Given the description of an element on the screen output the (x, y) to click on. 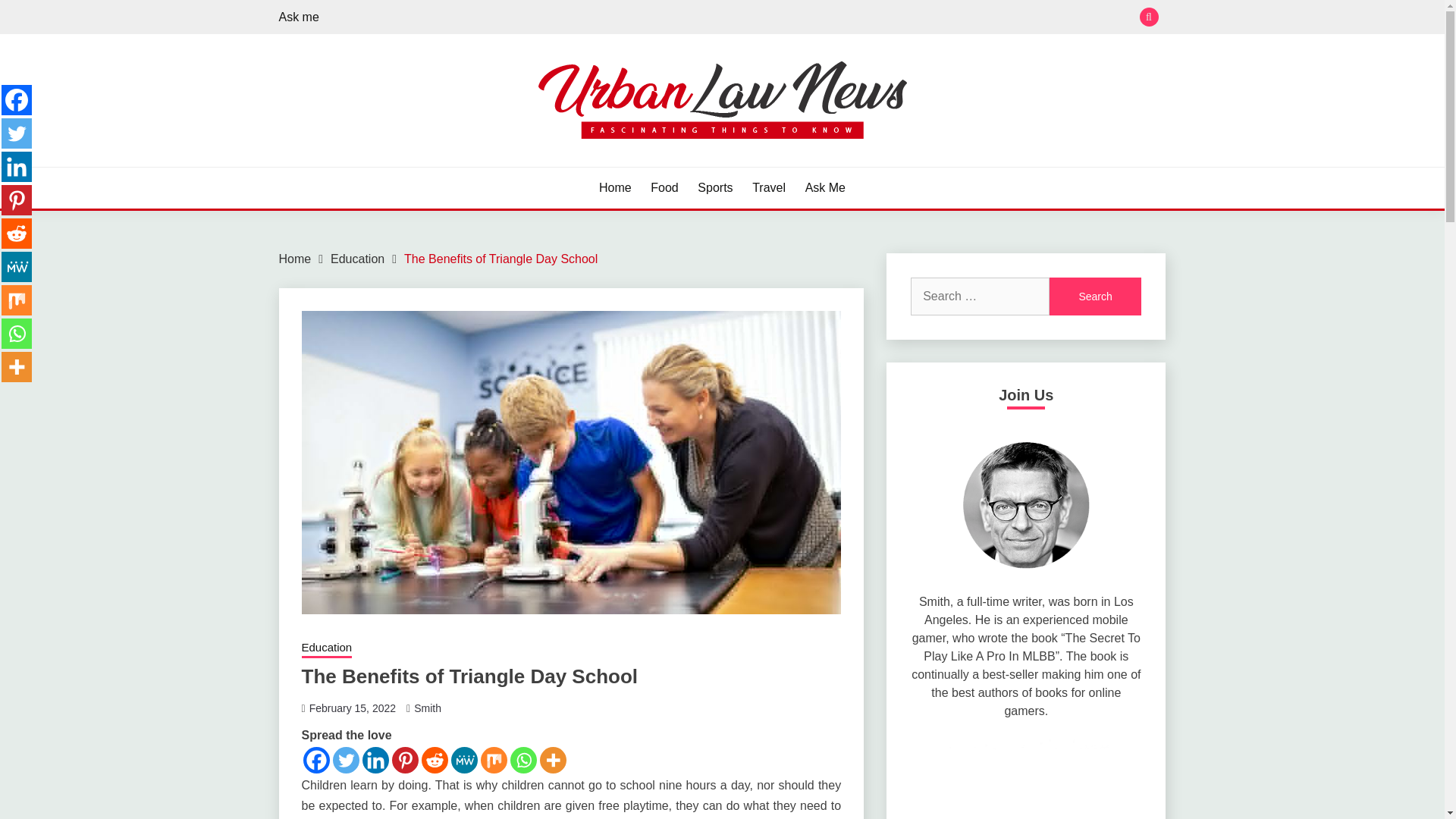
Linkedin (16, 166)
Pinterest (404, 759)
Twitter (16, 132)
Facebook (16, 100)
Facebook (316, 759)
Food (664, 188)
Twitter (344, 759)
Mix (16, 300)
Search (832, 18)
Search (1095, 296)
